Given the description of an element on the screen output the (x, y) to click on. 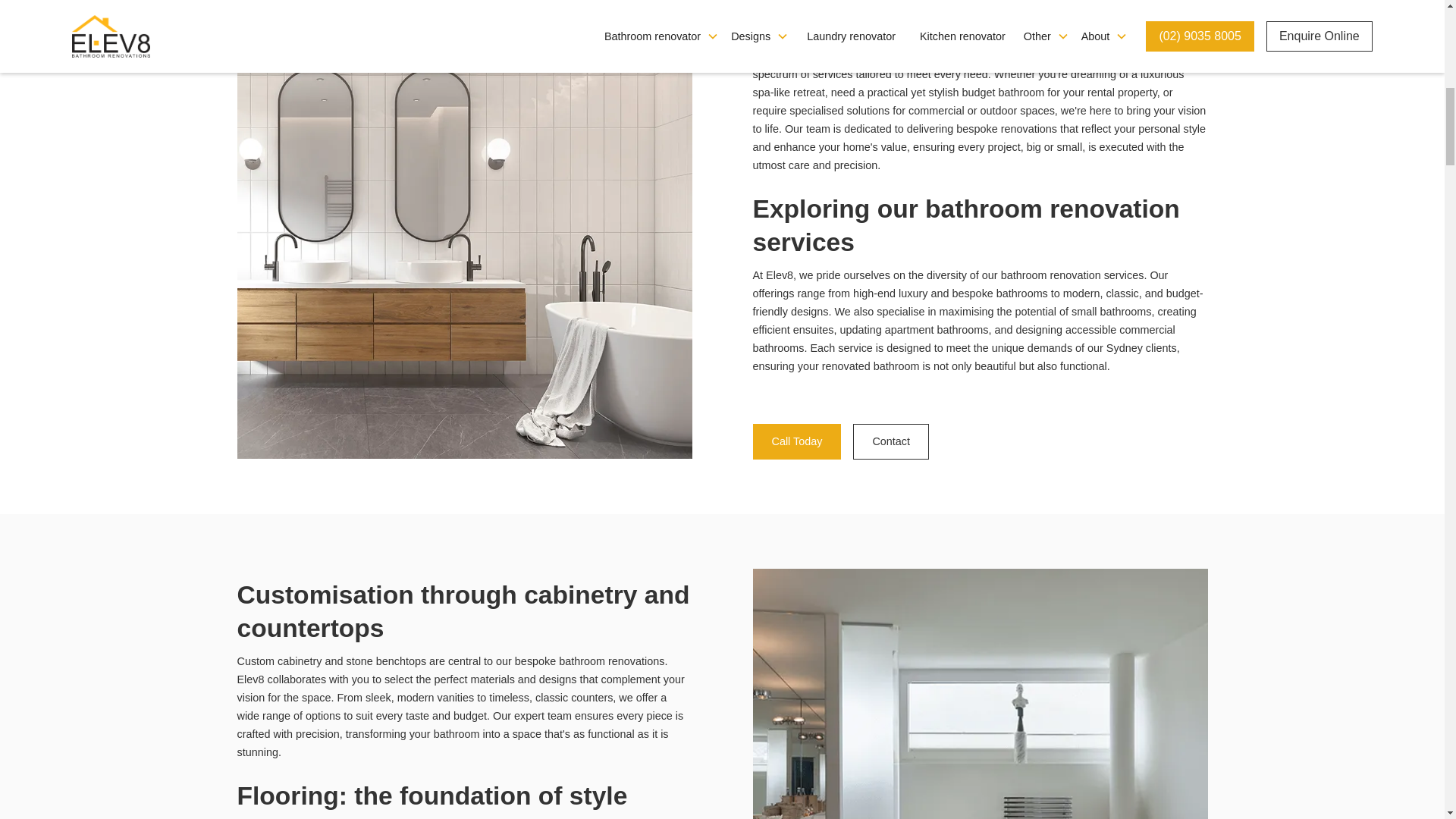
Contact (890, 441)
Call Today (796, 441)
Sydney (1136, 55)
